Given the description of an element on the screen output the (x, y) to click on. 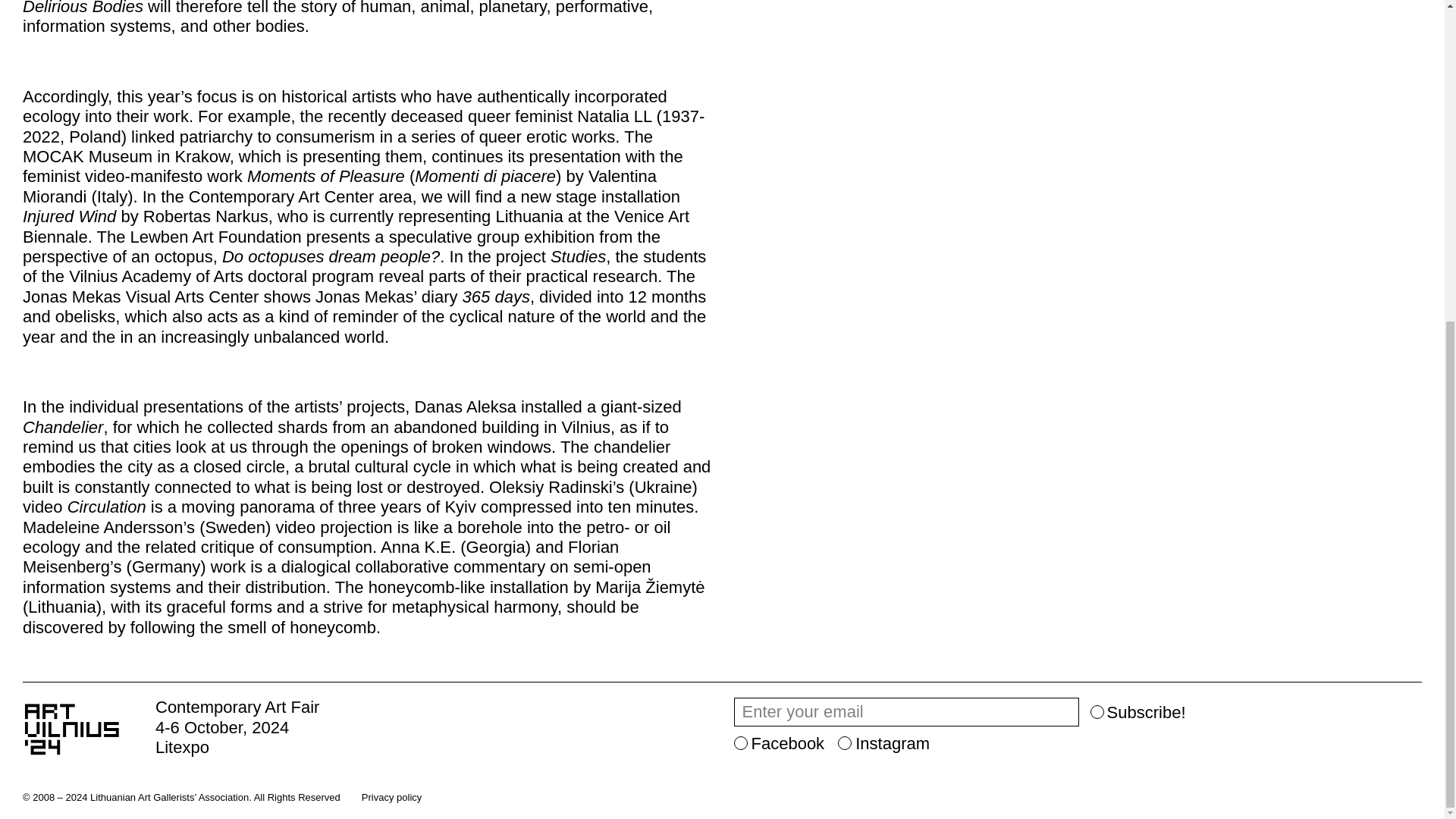
Privacy policy (391, 797)
Instagram (884, 742)
Subscribe! (1138, 712)
Facebook (779, 742)
